Given the description of an element on the screen output the (x, y) to click on. 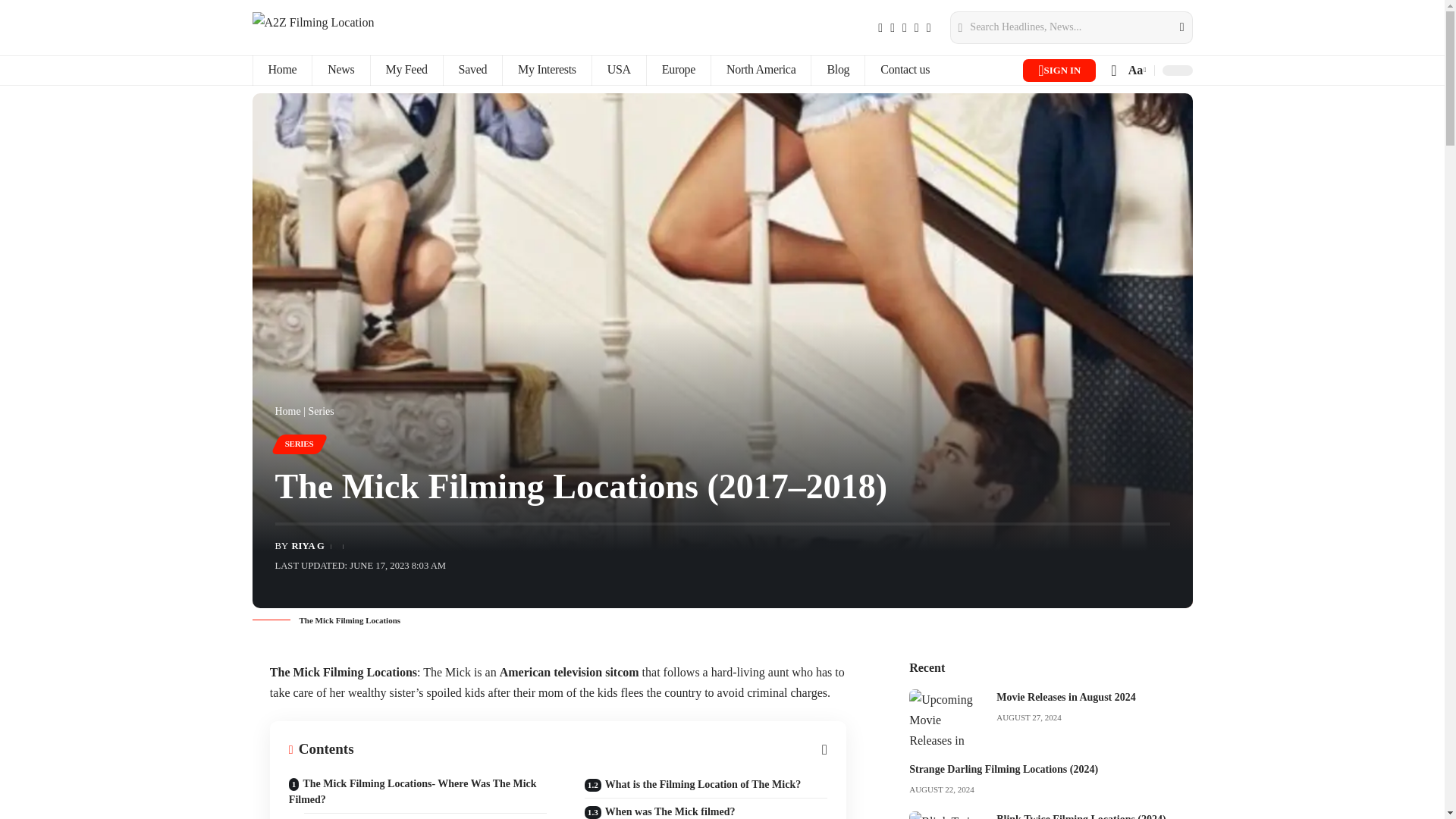
Europe (678, 70)
Saved (472, 70)
Home (281, 70)
SIGN IN (1059, 69)
Search (1172, 27)
A2Z Filming Location (312, 27)
North America (760, 70)
My Feed (405, 70)
Aa (1135, 69)
Movie Releases in August 2024 (946, 717)
